Given the description of an element on the screen output the (x, y) to click on. 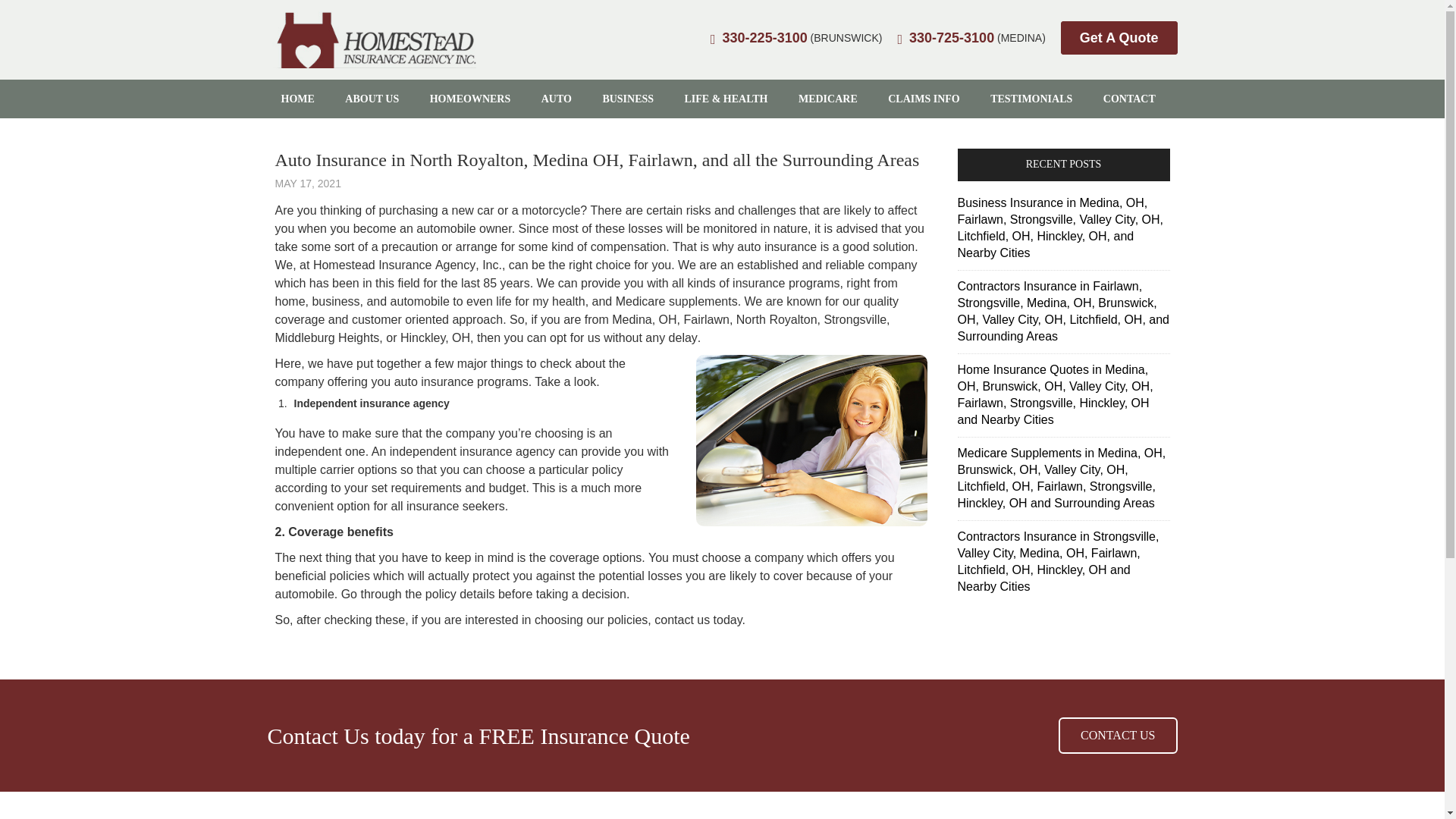
CONTACT US (1117, 735)
CONTACT (1129, 98)
CLAIMS INFO (924, 98)
BUSINESS (627, 98)
auto insurance (434, 381)
